Given the description of an element on the screen output the (x, y) to click on. 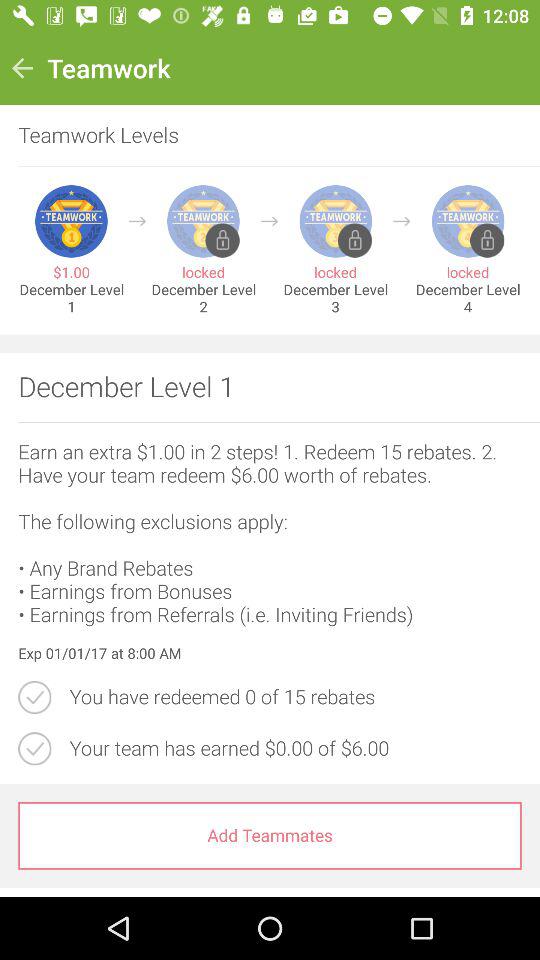
flip until the exp 01 01 item (269, 653)
